Given the description of an element on the screen output the (x, y) to click on. 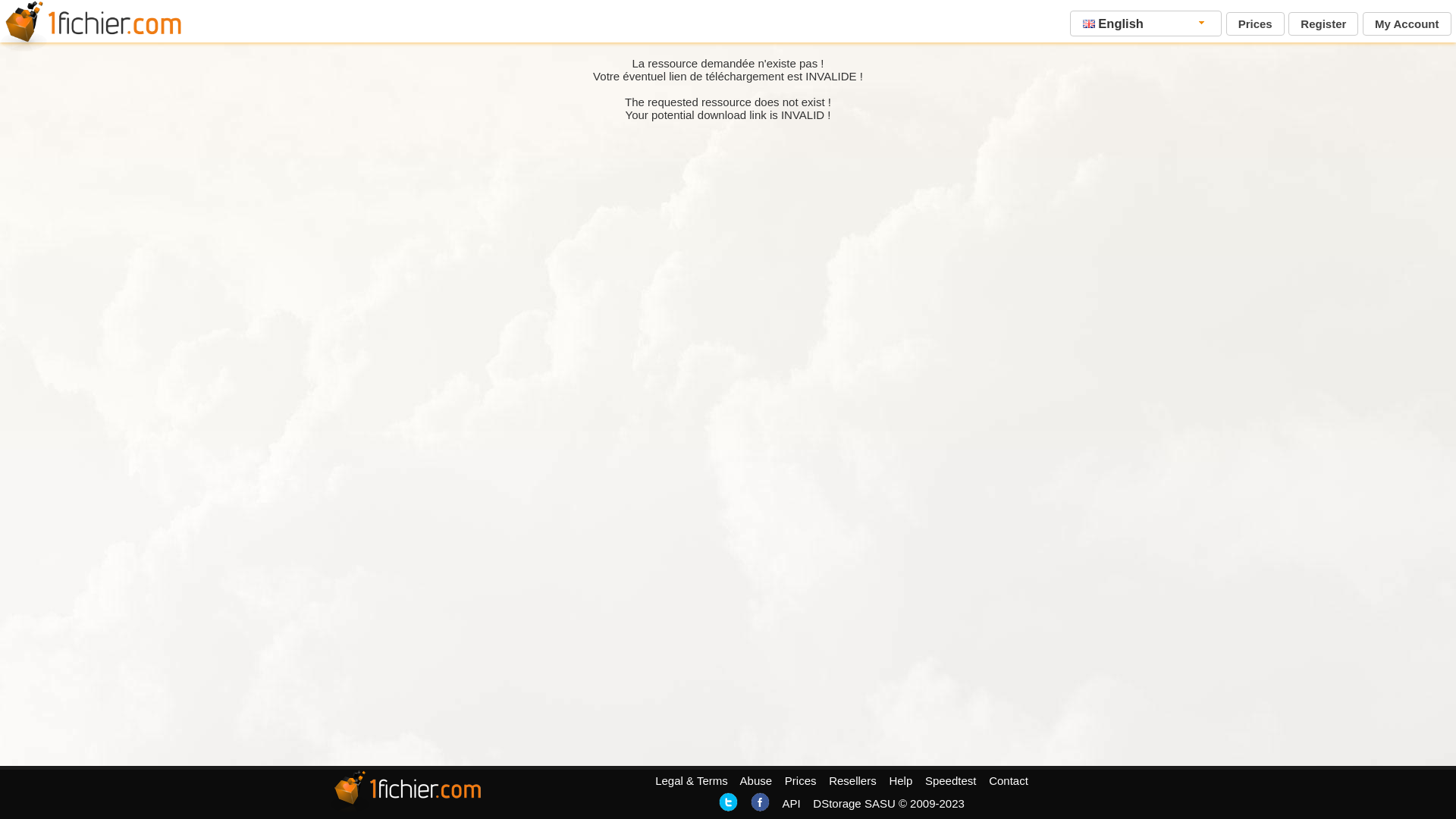
Prices Element type: text (800, 780)
Help Element type: text (900, 780)
Contact Element type: text (1008, 780)
Speedtest Element type: text (950, 780)
Register Element type: text (1323, 23)
My Account Element type: text (1406, 23)
Resellers Element type: text (852, 780)
Prices Element type: text (1255, 23)
Abuse Element type: text (756, 780)
API Element type: text (790, 803)
Legal & Terms Element type: text (691, 780)
